Given the description of an element on the screen output the (x, y) to click on. 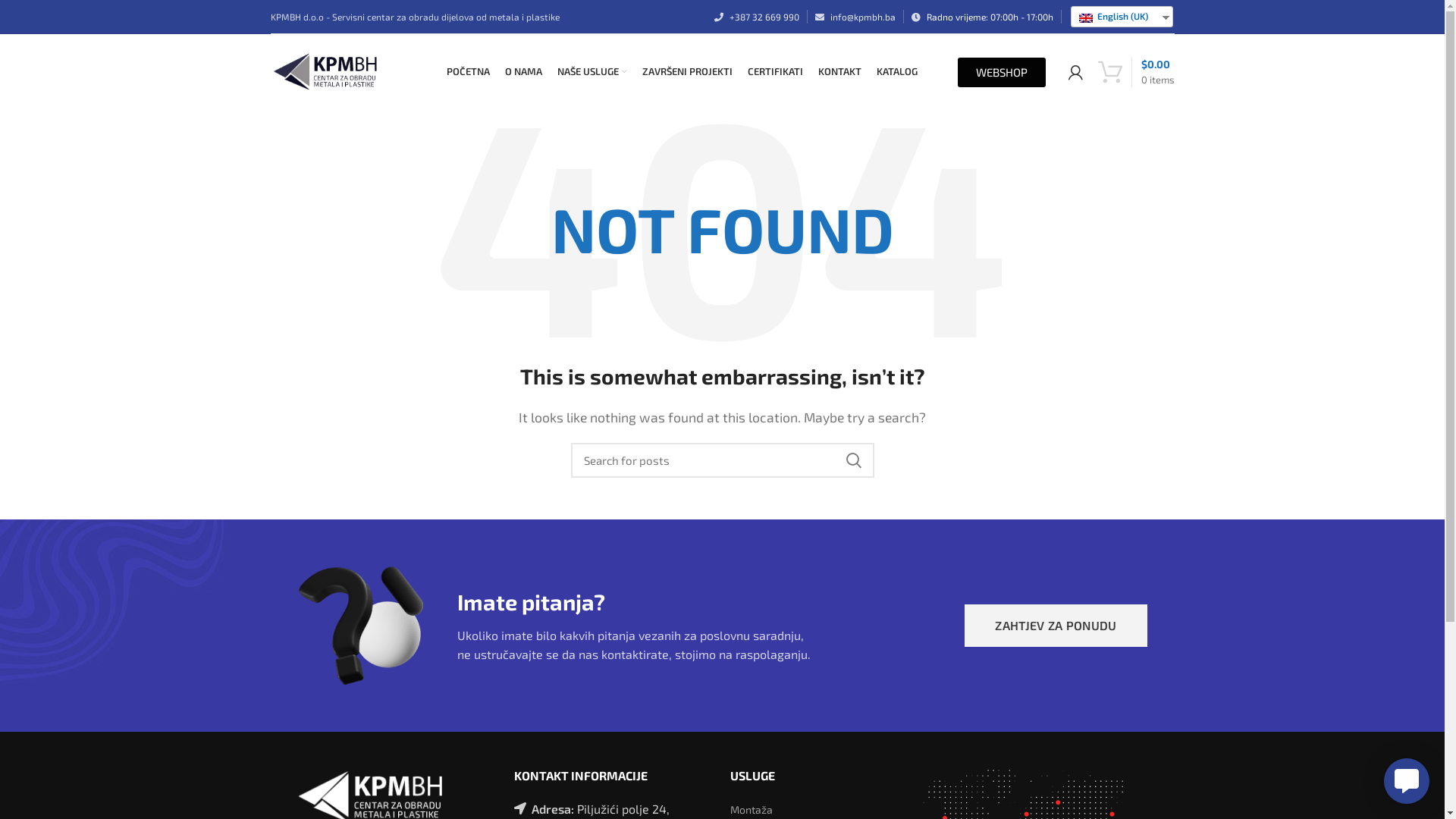
Log in Element type: text (956, 318)
ZAHTJEV ZA PONUDU Element type: text (1055, 625)
Search for posts Element type: hover (721, 459)
CERTIFIKATI Element type: text (775, 71)
info@kpmbh.ba Element type: text (861, 16)
+387 32 669 990 Element type: text (764, 16)
0 items
$0.00 Element type: text (1136, 71)
My account Element type: hover (1074, 71)
WEBSHOP Element type: text (1000, 72)
English (UK) Element type: text (1116, 16)
SEARCH Element type: text (853, 459)
KONTAKT Element type: text (839, 71)
KATALOG Element type: text (897, 71)
O NAMA Element type: text (523, 71)
English (UK) Element type: hover (1085, 17)
